Given the description of an element on the screen output the (x, y) to click on. 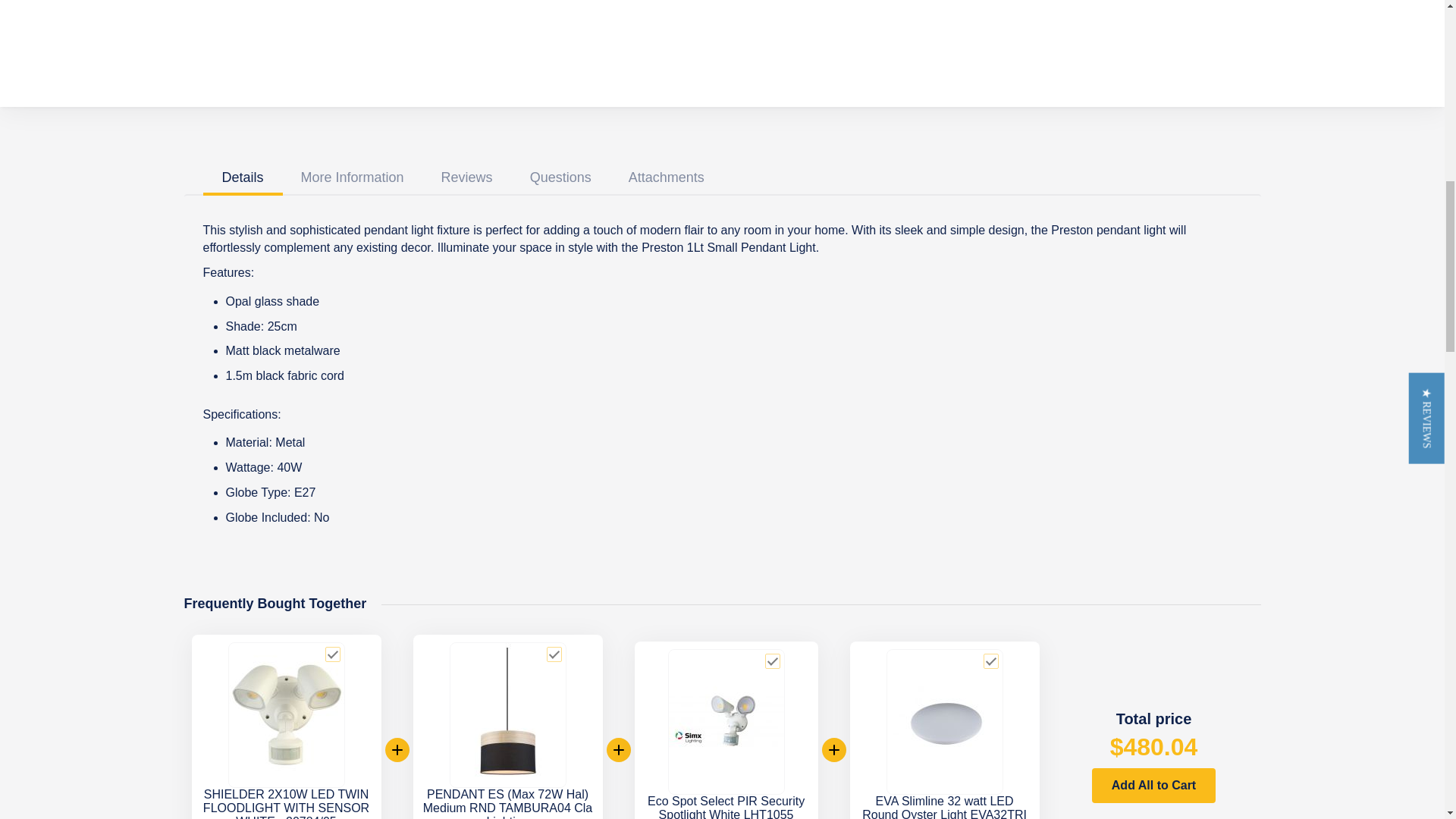
35432 (331, 654)
40632 (991, 661)
40656 (772, 661)
Eco Spot Select PIR Security Spotlight White LHT1055 (726, 806)
28182 (553, 654)
